Given the description of an element on the screen output the (x, y) to click on. 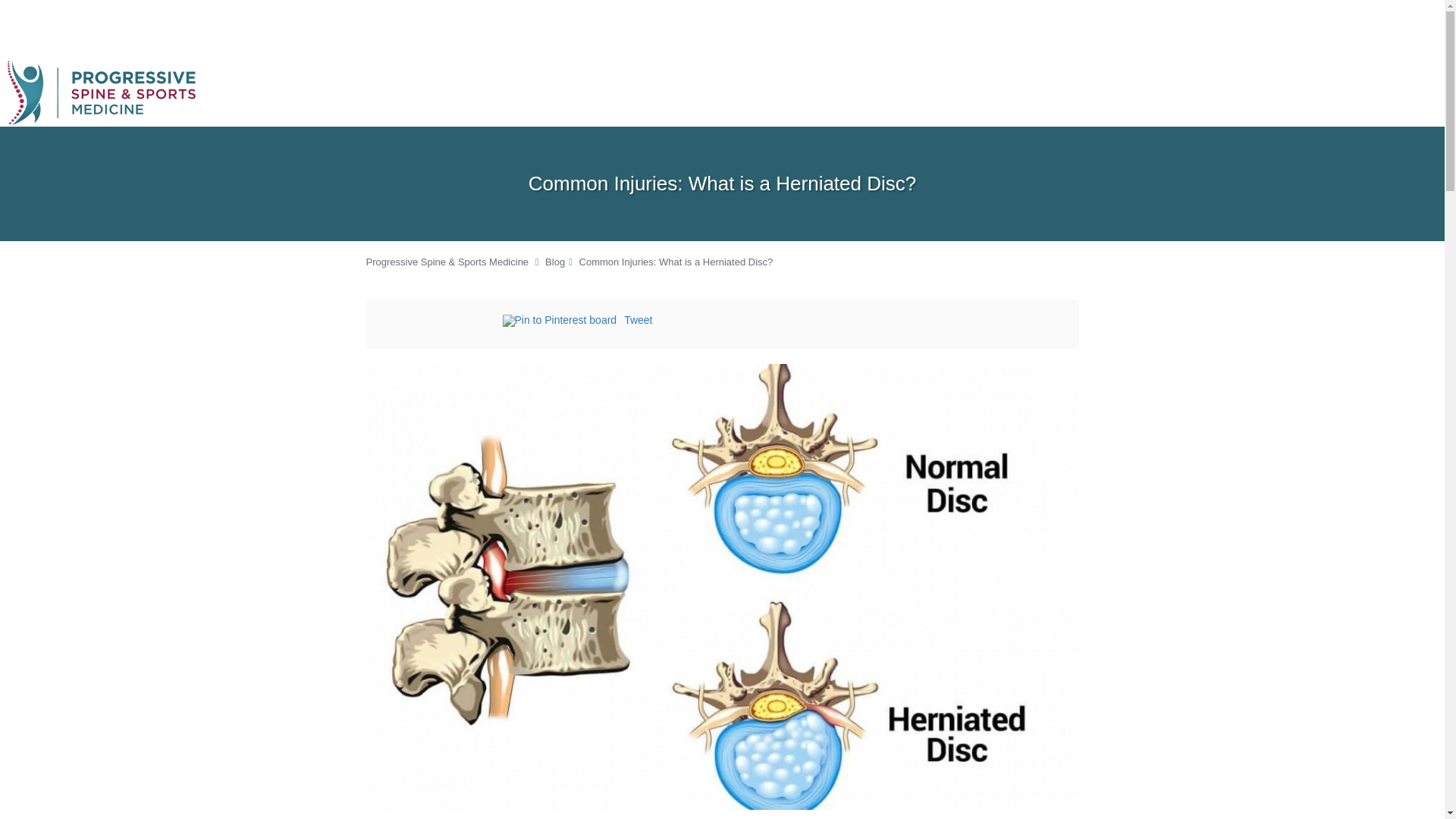
Facebook social button (441, 322)
Skip to main content (74, 66)
